Given the description of an element on the screen output the (x, y) to click on. 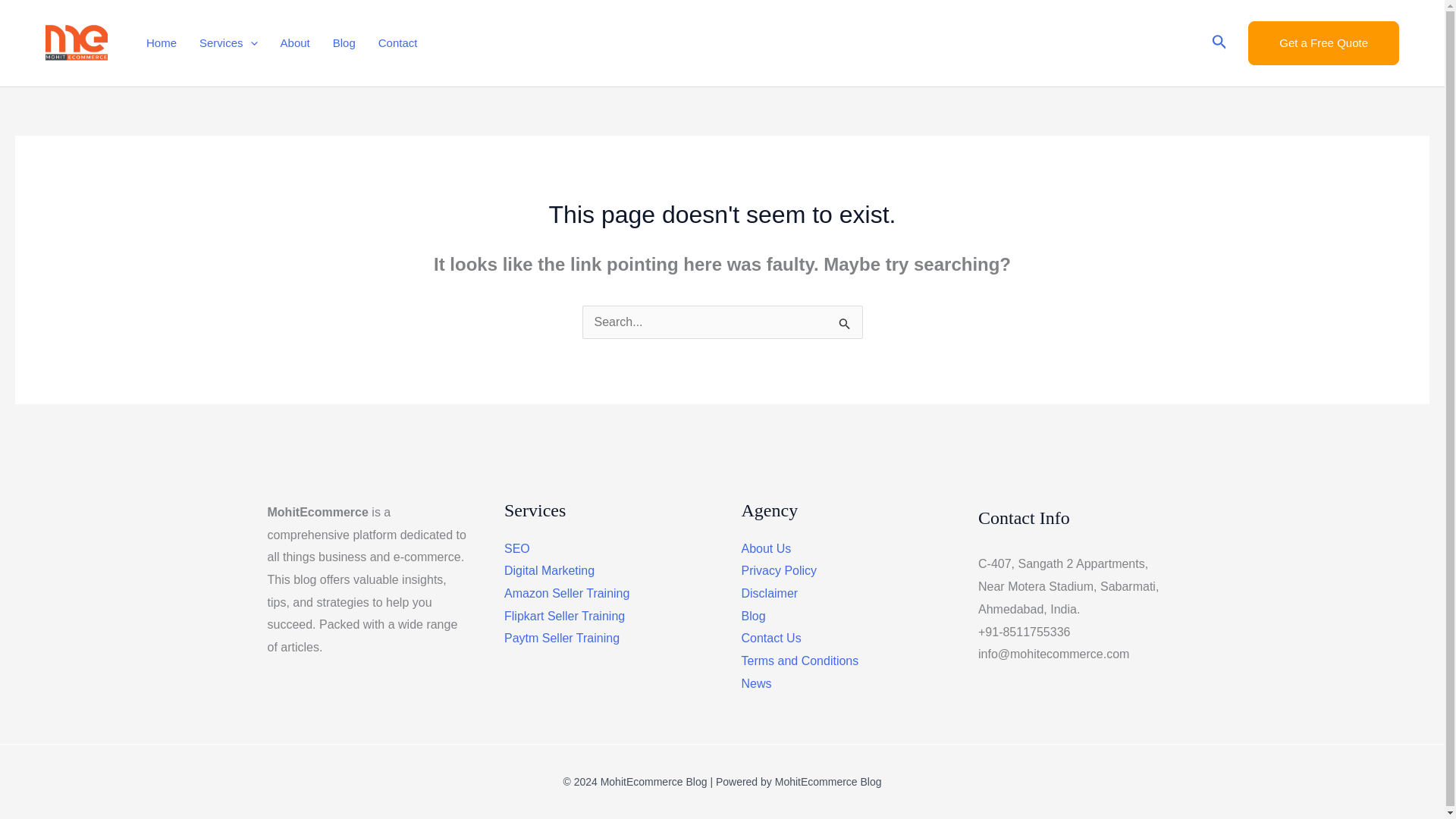
Amazon Seller Training (565, 593)
Services (228, 42)
SEO (516, 548)
Get a Free Quote (1323, 43)
Privacy Policy (778, 570)
About Us (766, 548)
Paytm Seller Training (561, 637)
Digital Marketing (548, 570)
Blog (753, 615)
Flipkart Seller Training (563, 615)
